Given the description of an element on the screen output the (x, y) to click on. 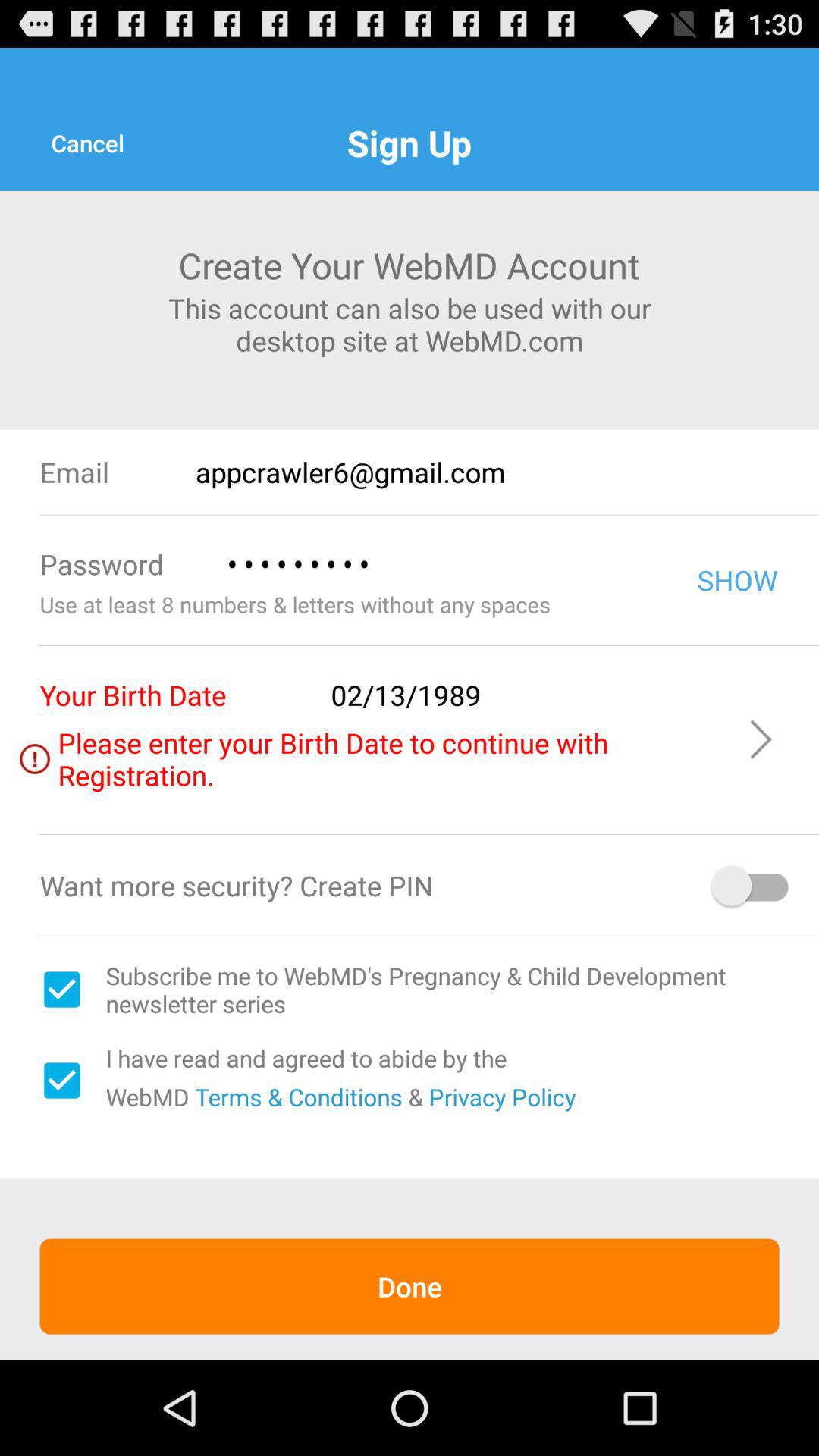
click appcrawler6@gmail.com (507, 471)
